Given the description of an element on the screen output the (x, y) to click on. 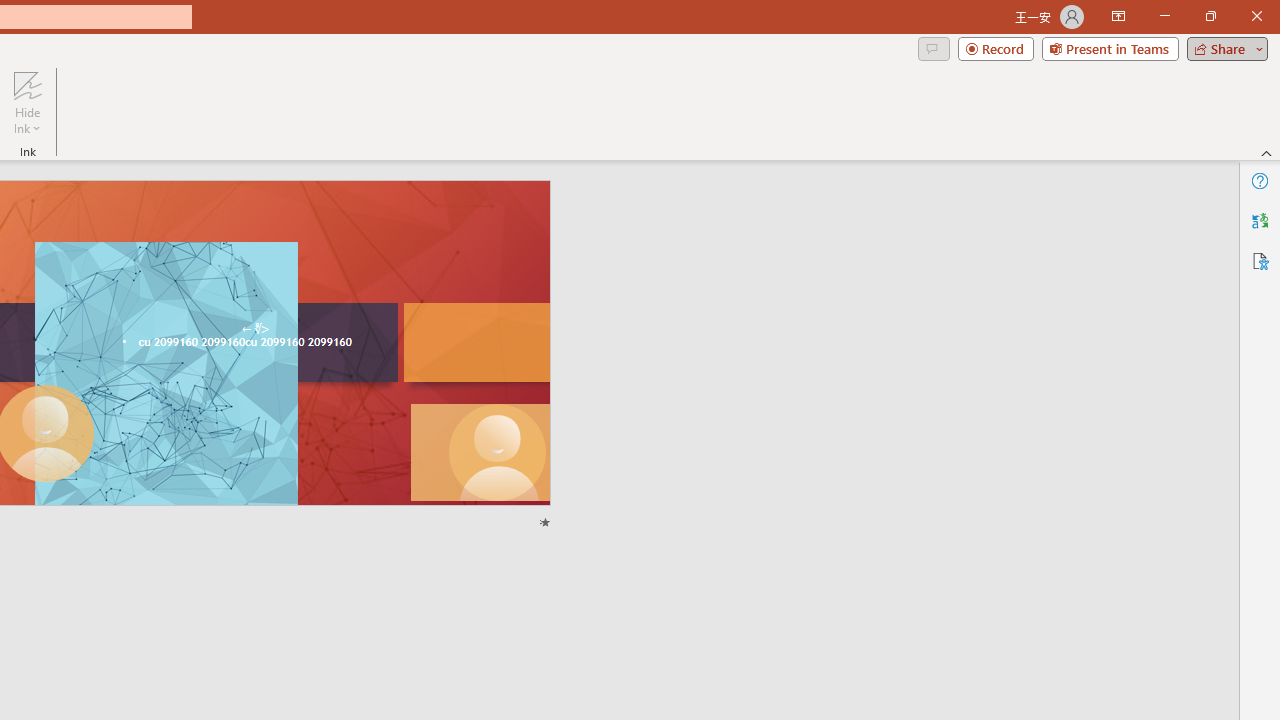
Record (995, 48)
Help (1260, 180)
Comments (933, 48)
Translator (1260, 220)
Restore Down (1210, 16)
More Options (27, 121)
Collapse the Ribbon (1267, 152)
Ribbon Display Options (1118, 16)
Close (1256, 16)
Accessibility (1260, 260)
Minimize (1164, 16)
Share (1223, 48)
Hide Ink (27, 102)
Present in Teams (1109, 48)
